Given the description of an element on the screen output the (x, y) to click on. 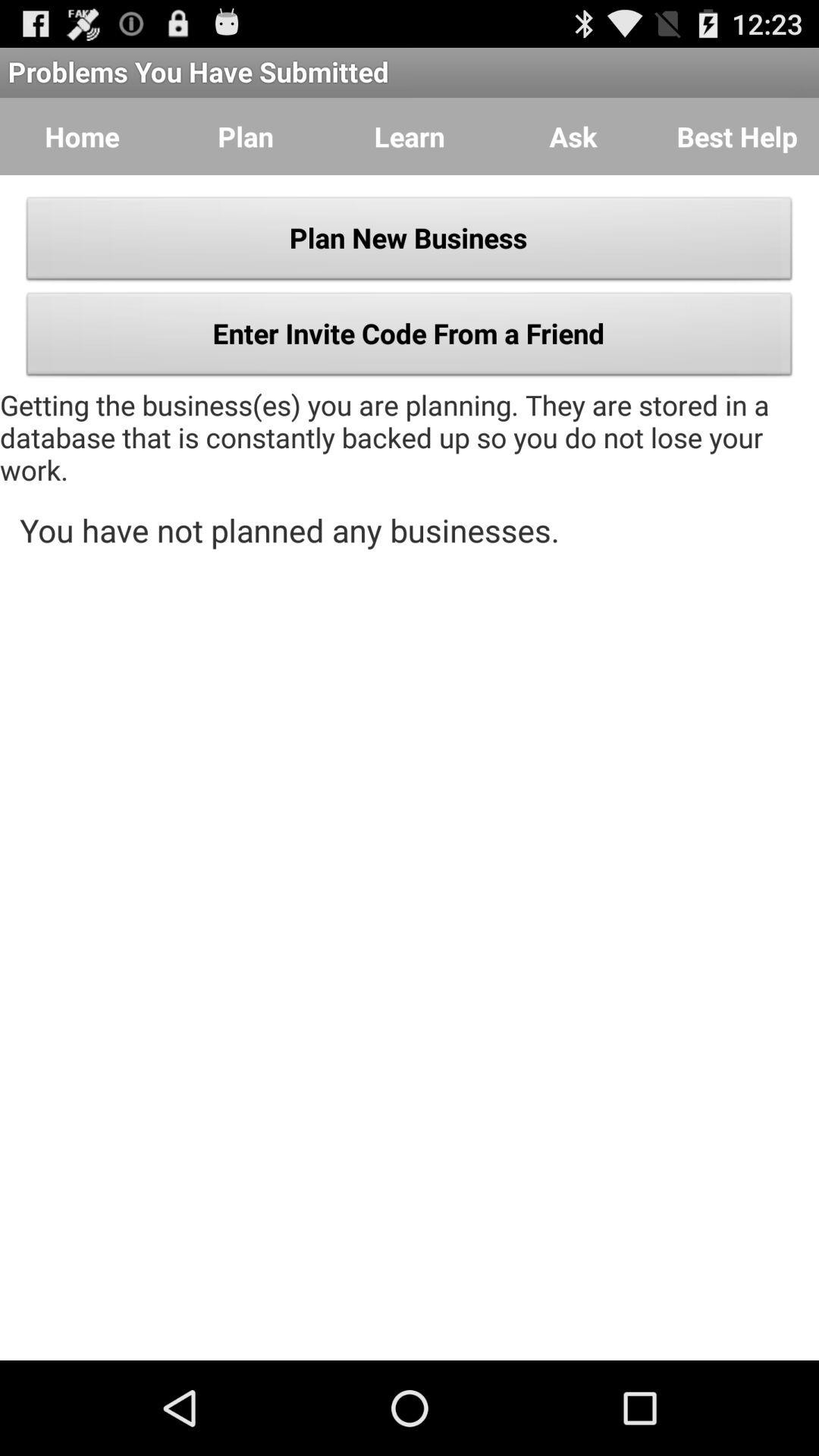
press button below the plan new business icon (409, 338)
